Given the description of an element on the screen output the (x, y) to click on. 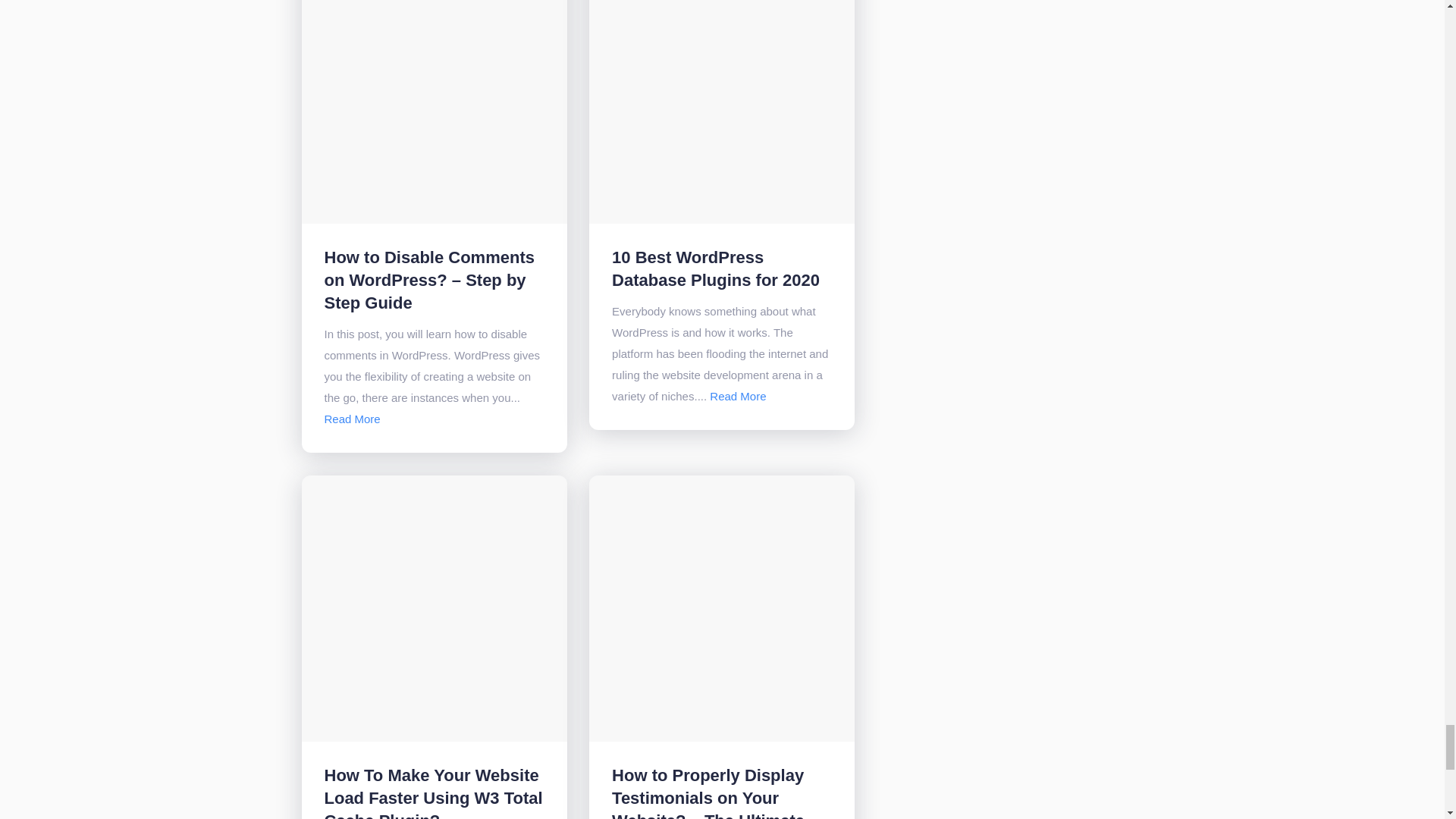
10 Best WordPress Database Plugins for 2020 (721, 111)
10 Best WordPress Database Plugins for 2020 (715, 268)
10 Best WordPress Database Plugins for 2020 (737, 395)
